Given the description of an element on the screen output the (x, y) to click on. 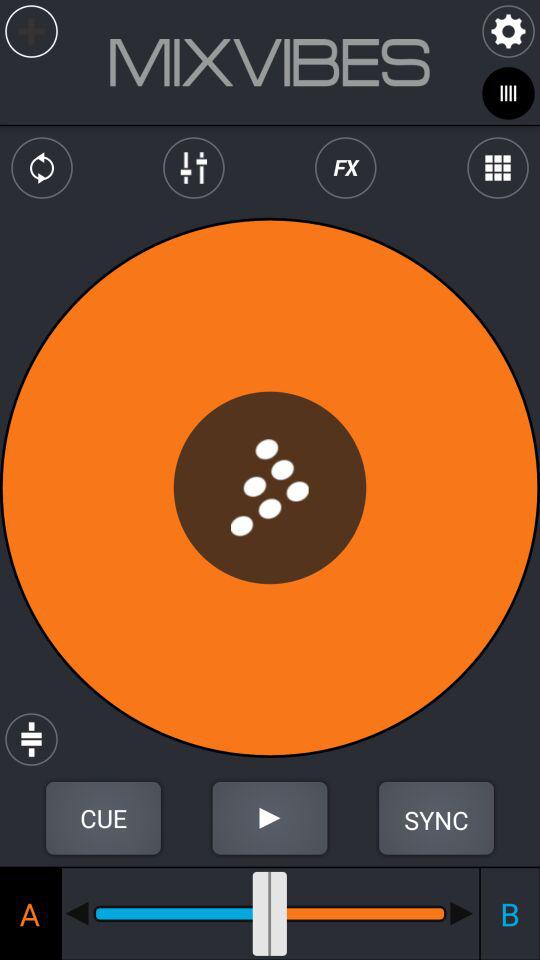
select special fx (345, 167)
